Given the description of an element on the screen output the (x, y) to click on. 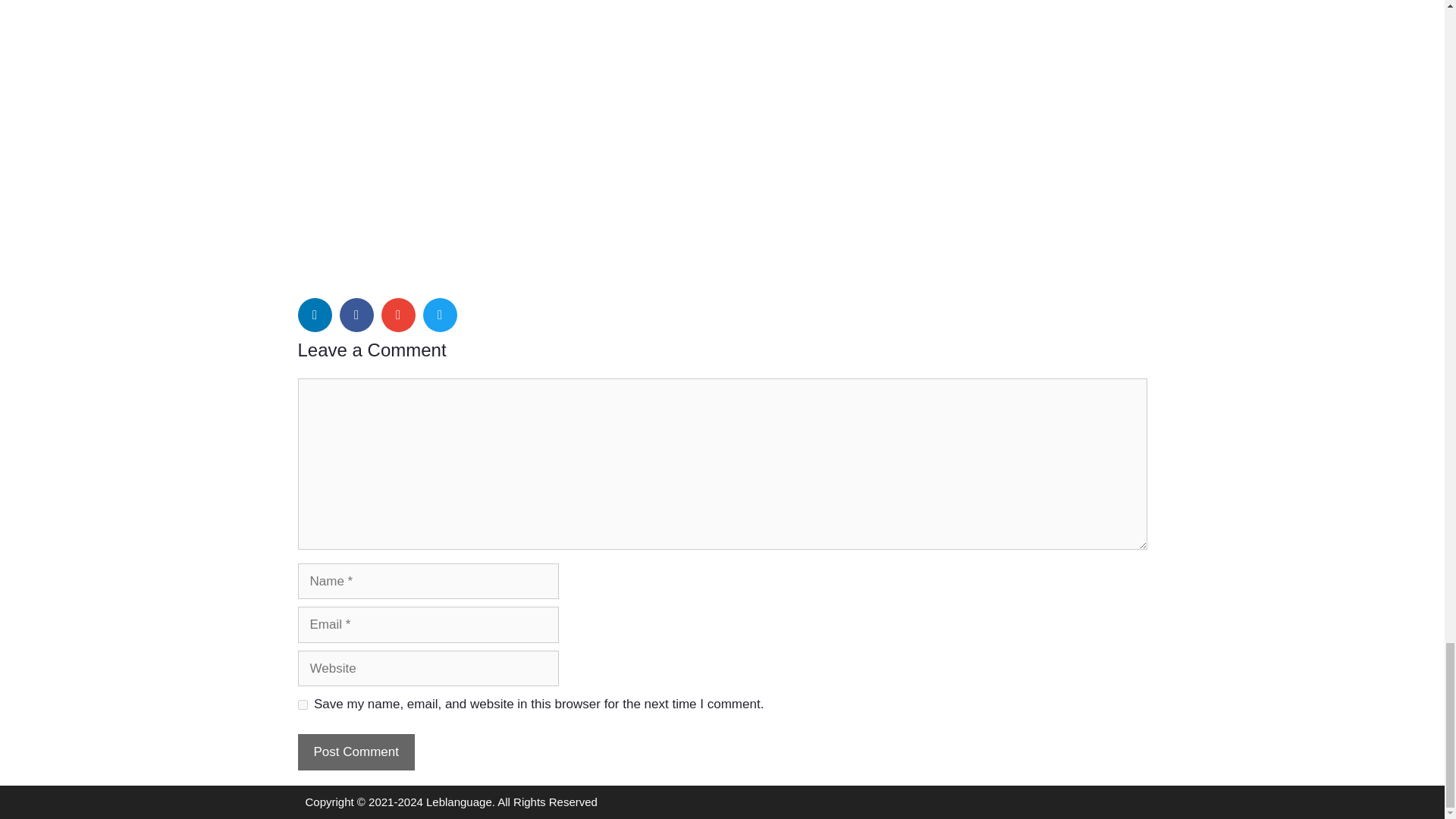
Post Comment (355, 751)
yes (302, 705)
Post Comment (355, 751)
